Given the description of an element on the screen output the (x, y) to click on. 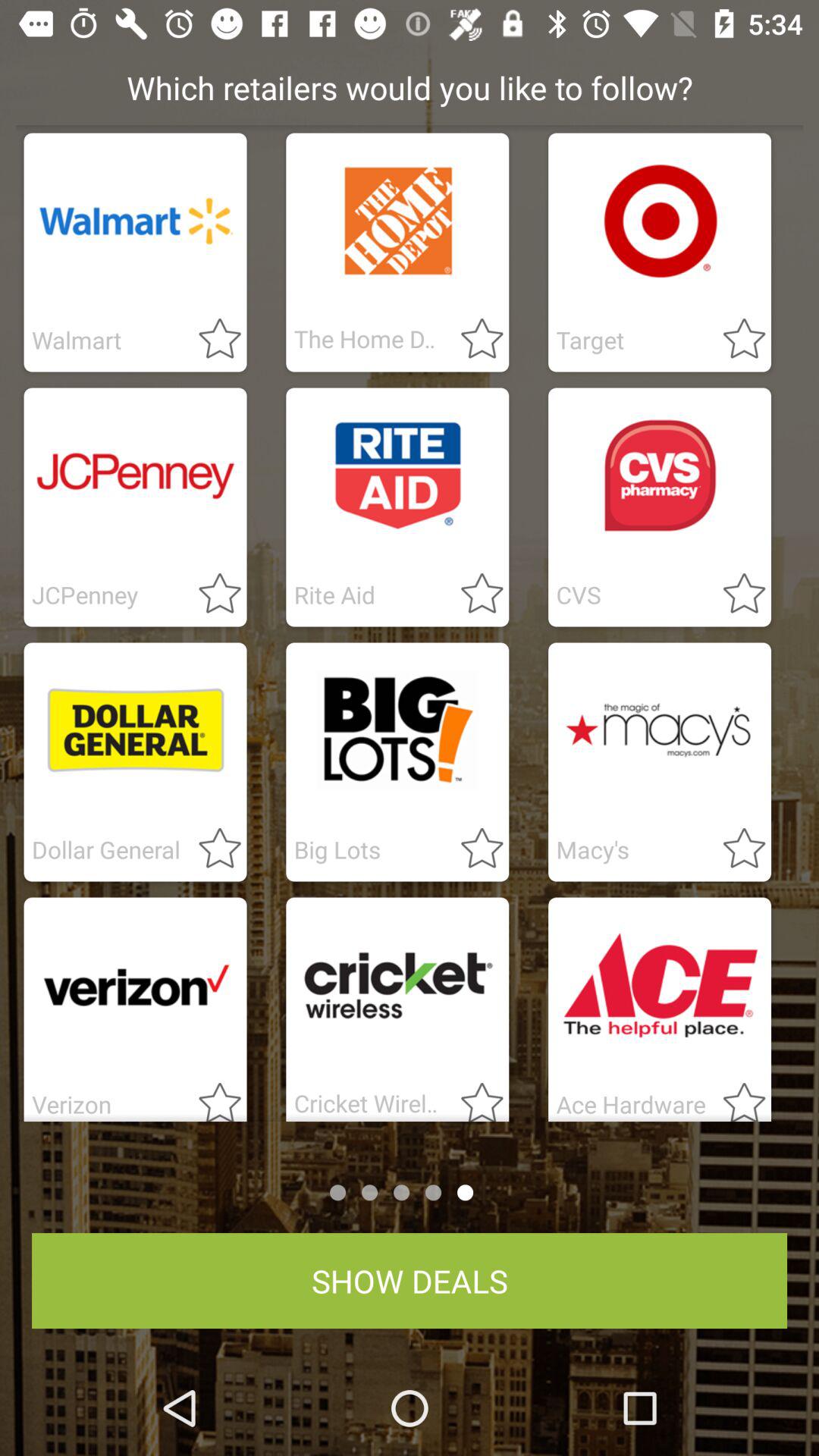
toggle like visual (473, 339)
